Given the description of an element on the screen output the (x, y) to click on. 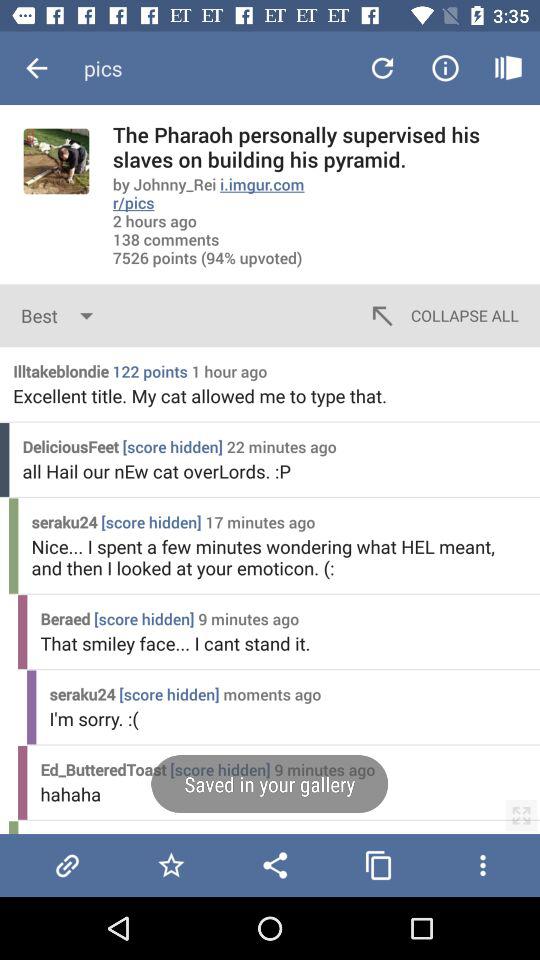
turn on the best icon (61, 315)
